Given the description of an element on the screen output the (x, y) to click on. 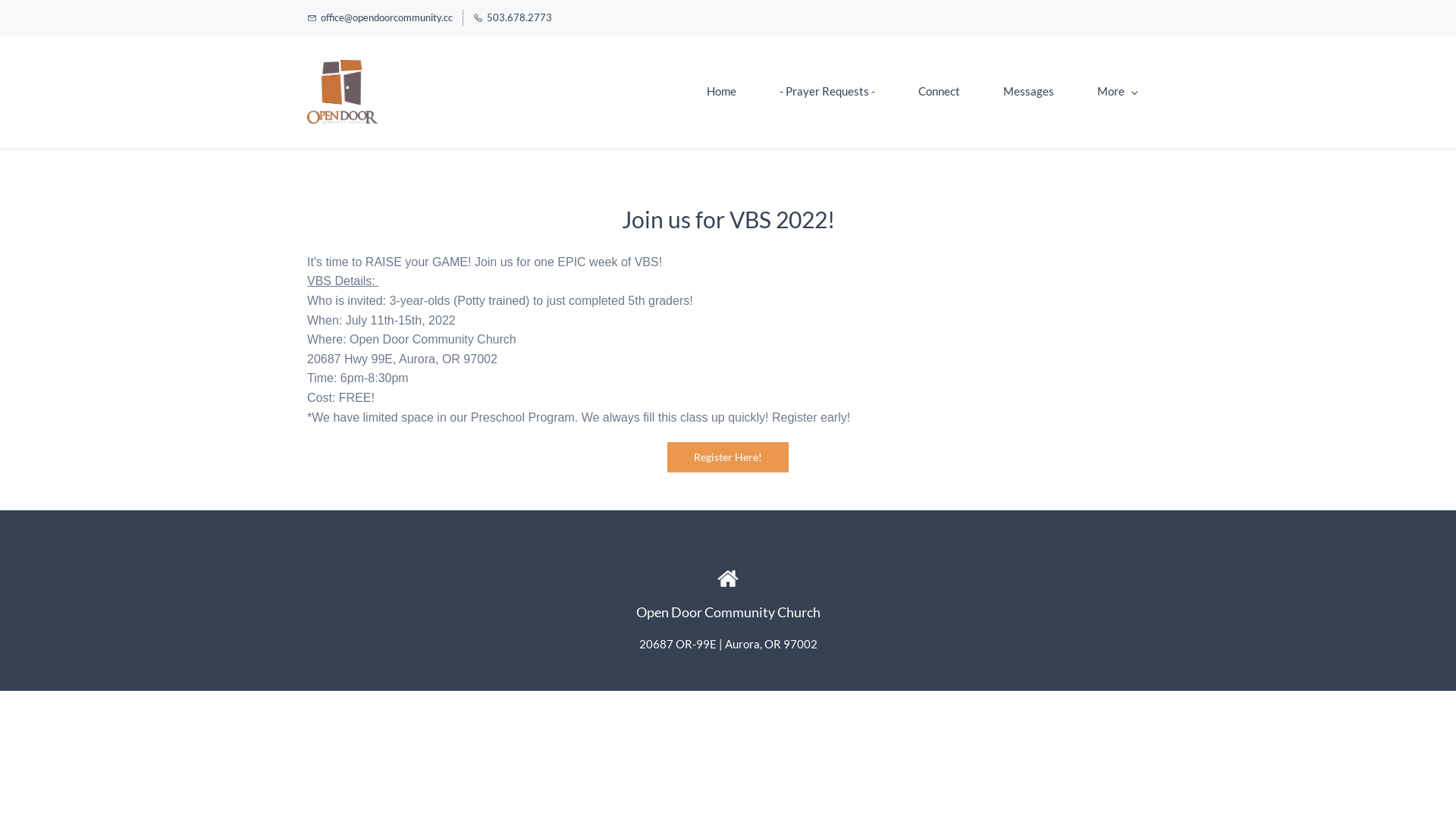
Register Here! Element type: text (727, 457)
503.678.2773 Element type: text (512, 17)
office@opendoorcommunity.cc Element type: text (379, 17)
Home Element type: text (721, 91)
Messages Element type: text (1028, 91)
Connect Element type: text (939, 91)
More Element type: text (1116, 91)
- Prayer Requests - Element type: text (827, 91)
